Given the description of an element on the screen output the (x, y) to click on. 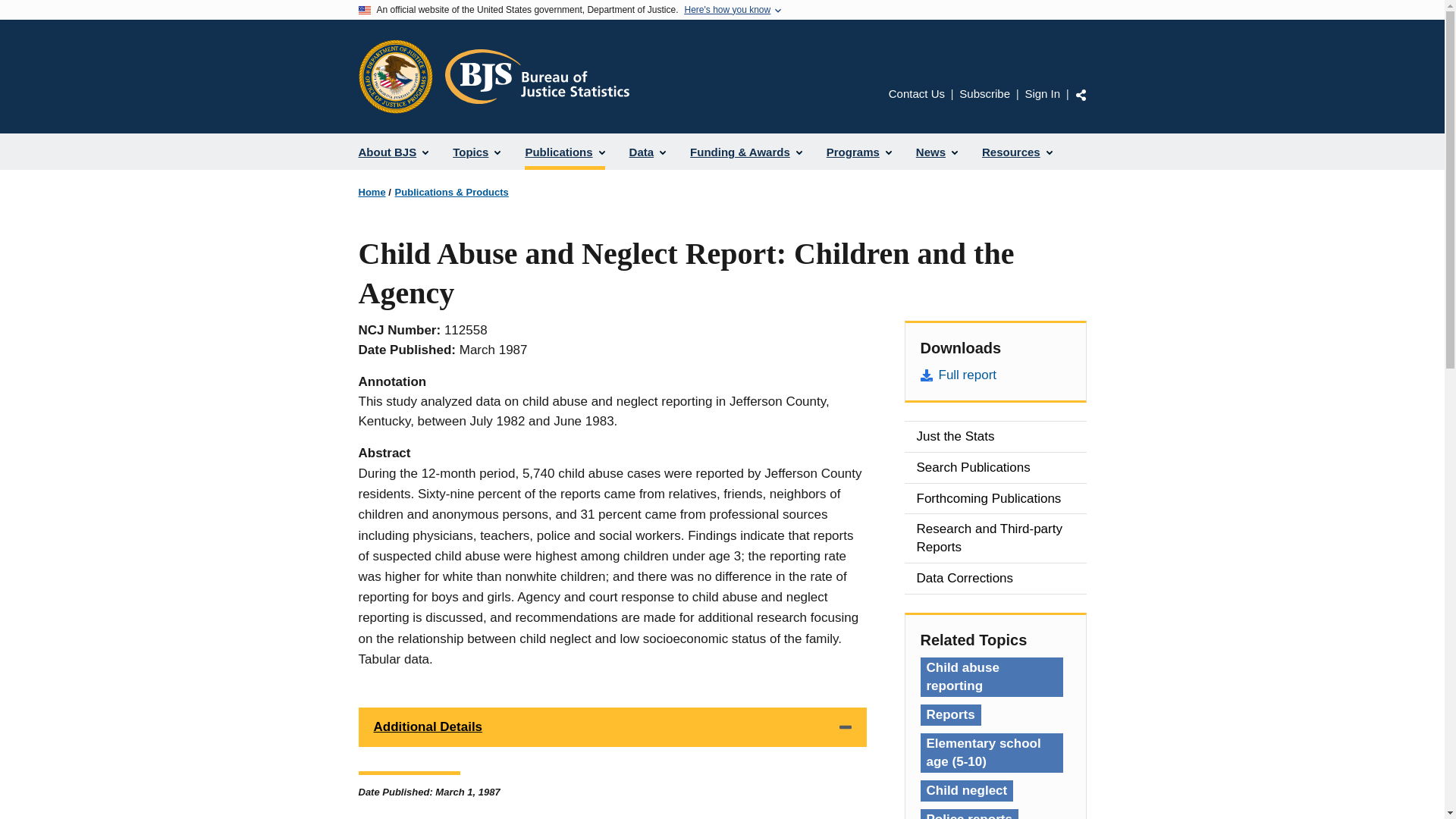
Home (371, 192)
Office of Justice Programs (395, 76)
Police reports (968, 814)
Subscribe (984, 93)
Search Publications (995, 467)
Forthcoming Publications (995, 499)
Full report (995, 374)
News (936, 151)
Additional Details (612, 726)
Data (647, 151)
Programs (858, 151)
Choose a social sharing platform (1080, 94)
Research and Third-party Reports (995, 538)
Child neglect (966, 790)
